Given the description of an element on the screen output the (x, y) to click on. 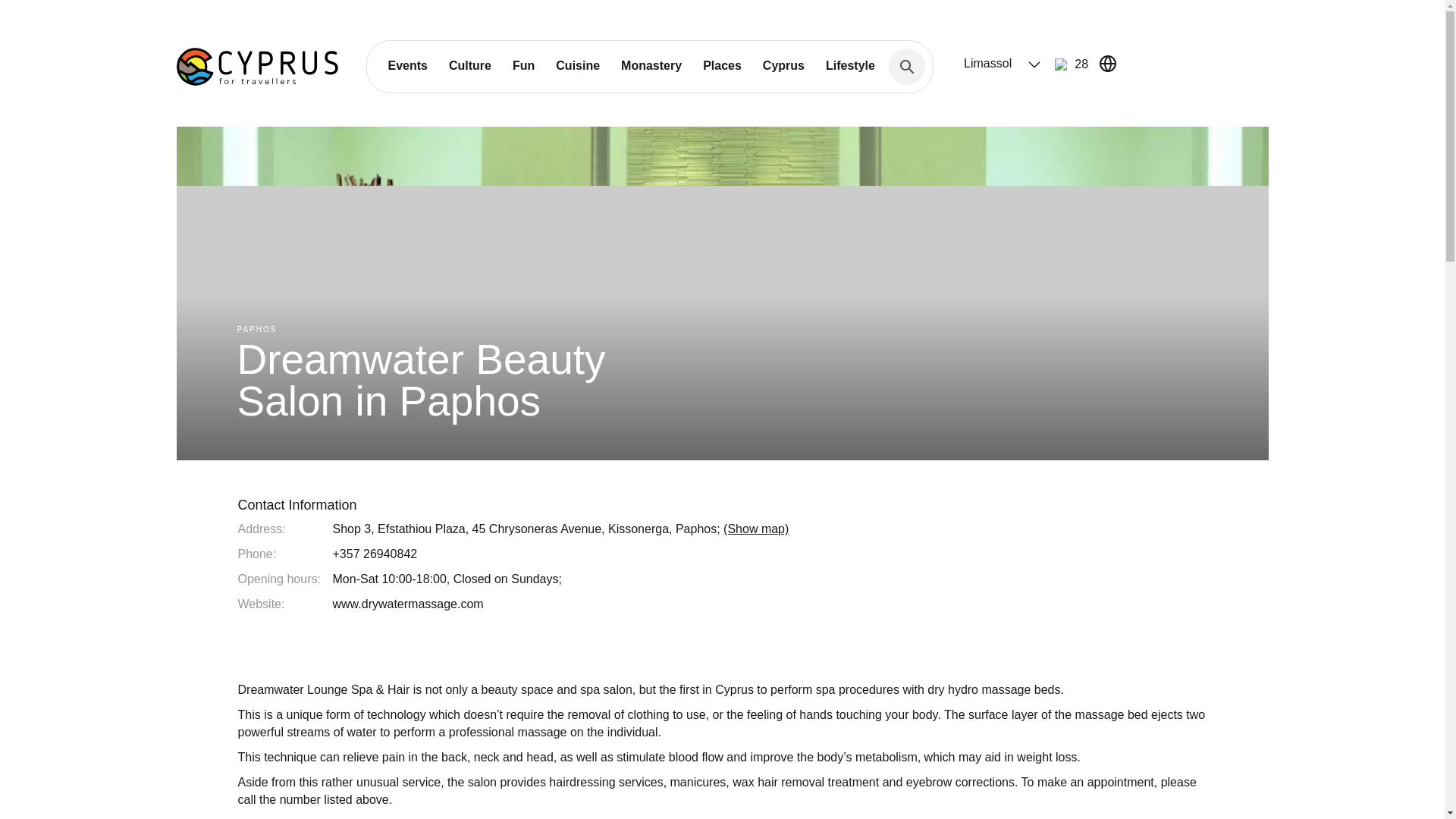
Places (722, 65)
Events (407, 65)
Culture (470, 65)
Cyprus (783, 65)
Monastery (651, 65)
Cuisine (577, 65)
Lifestyle (850, 65)
PAPHOS (255, 329)
Fun (523, 65)
